Given the description of an element on the screen output the (x, y) to click on. 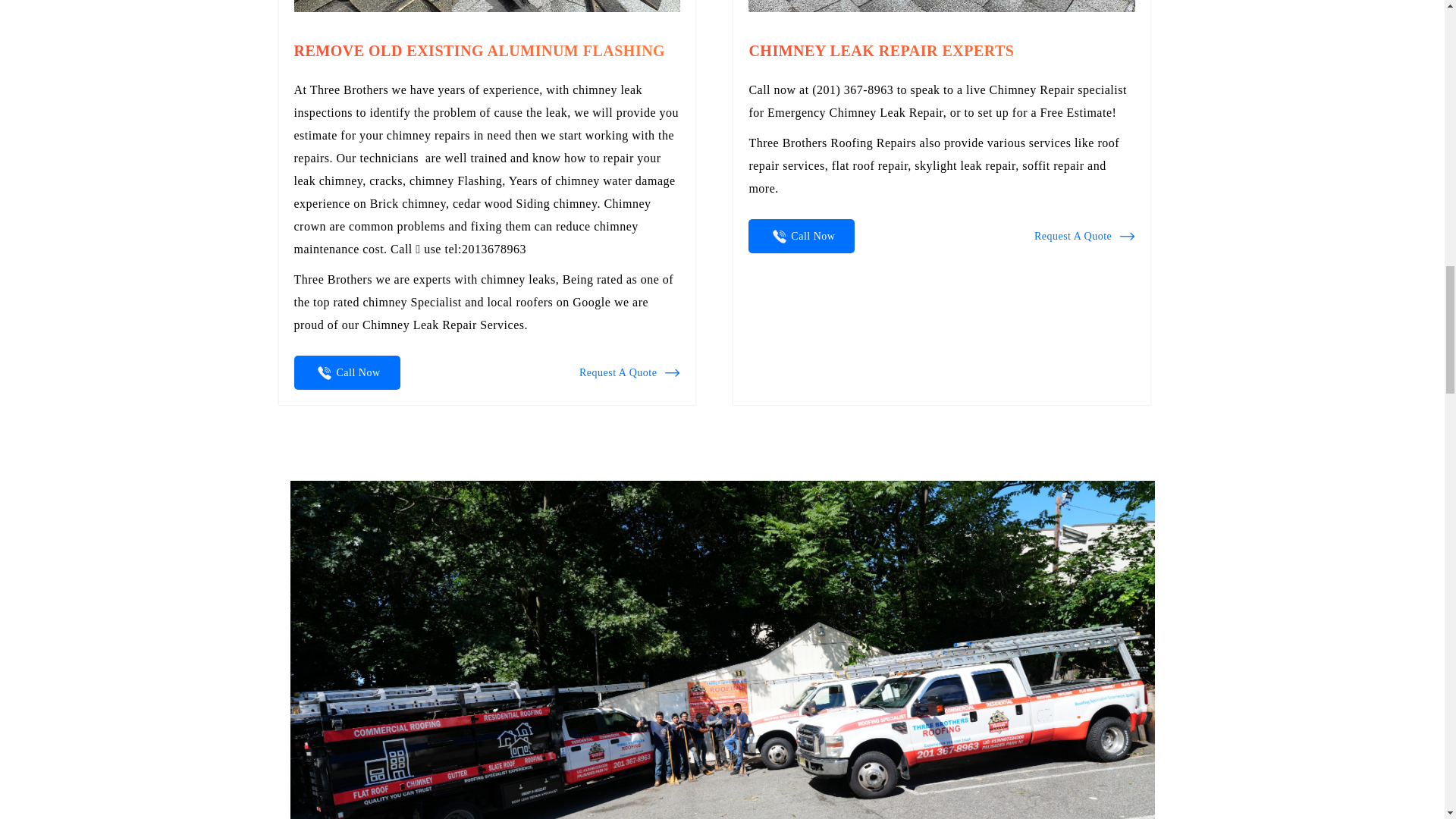
Call Now (801, 236)
Request A Quote (1084, 236)
Request A Quote (629, 372)
Call Now (347, 372)
